Given the description of an element on the screen output the (x, y) to click on. 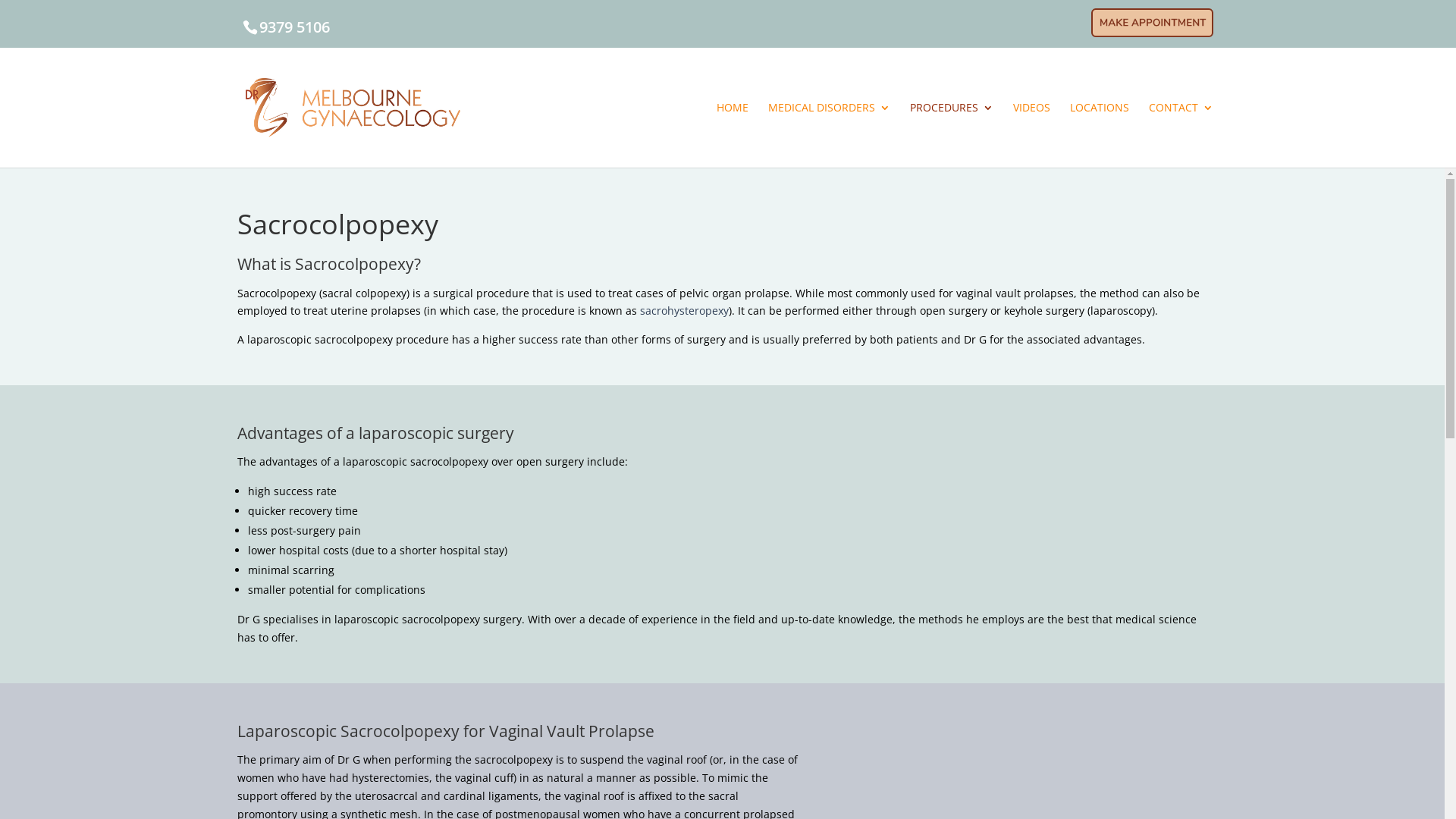
HOME Element type: text (732, 134)
MEDICAL DISORDERS Element type: text (829, 134)
PROCEDURES Element type: text (951, 134)
VIDEOS Element type: text (1031, 134)
LOCATIONS Element type: text (1099, 134)
CONTACT Element type: text (1180, 134)
